Given the description of an element on the screen output the (x, y) to click on. 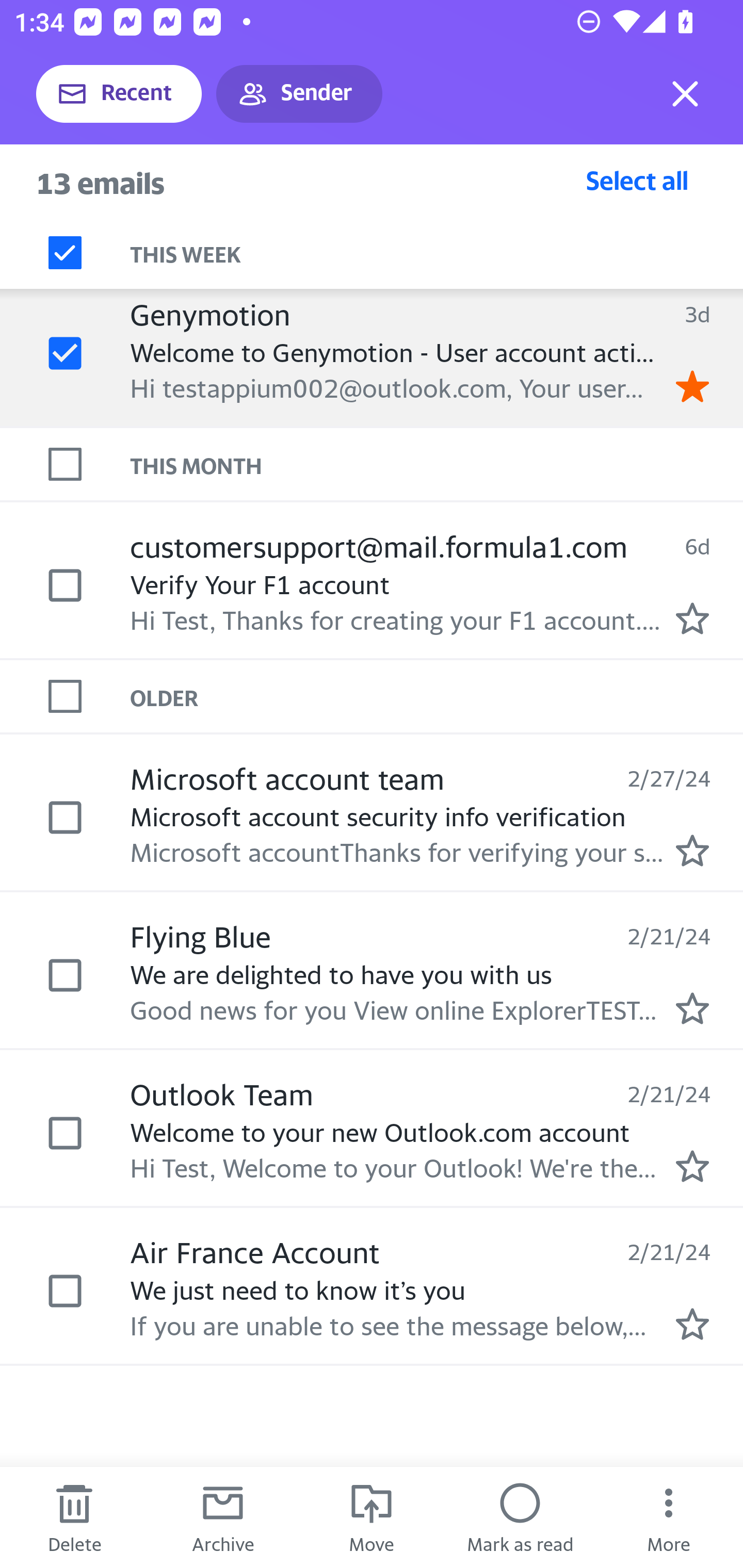
Sender (299, 93)
Exit selection mode (684, 93)
Select all (637, 180)
Remove star. (692, 386)
THIS MONTH (436, 464)
Mark as starred. (692, 618)
OLDER (436, 696)
Mark as starred. (692, 850)
Mark as starred. (692, 1008)
Mark as starred. (692, 1165)
Mark as starred. (692, 1324)
Delete (74, 1517)
Archive (222, 1517)
Move (371, 1517)
Mark as read (519, 1517)
More (668, 1517)
